Given the description of an element on the screen output the (x, y) to click on. 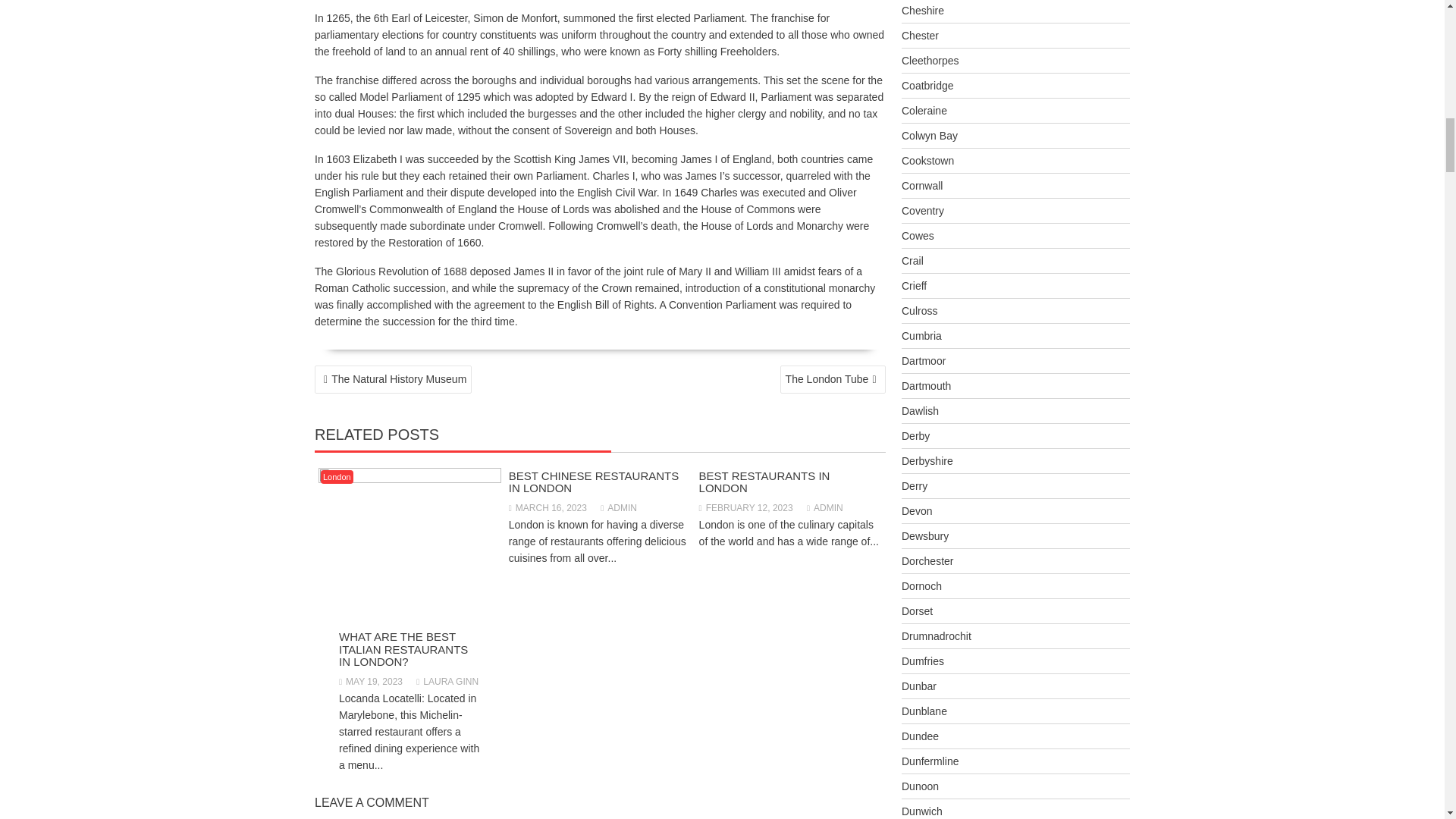
FEBRUARY 12, 2023 (745, 507)
LAURA GINN (447, 681)
ADMIN (824, 507)
WHAT ARE THE BEST ITALIAN RESTAURANTS IN LONDON? (403, 648)
London (336, 477)
The Natural History Museum (392, 379)
BEST CHINESE RESTAURANTS IN LONDON (593, 482)
MARCH 16, 2023 (547, 507)
MAY 19, 2023 (371, 681)
ADMIN (618, 507)
